Given the description of an element on the screen output the (x, y) to click on. 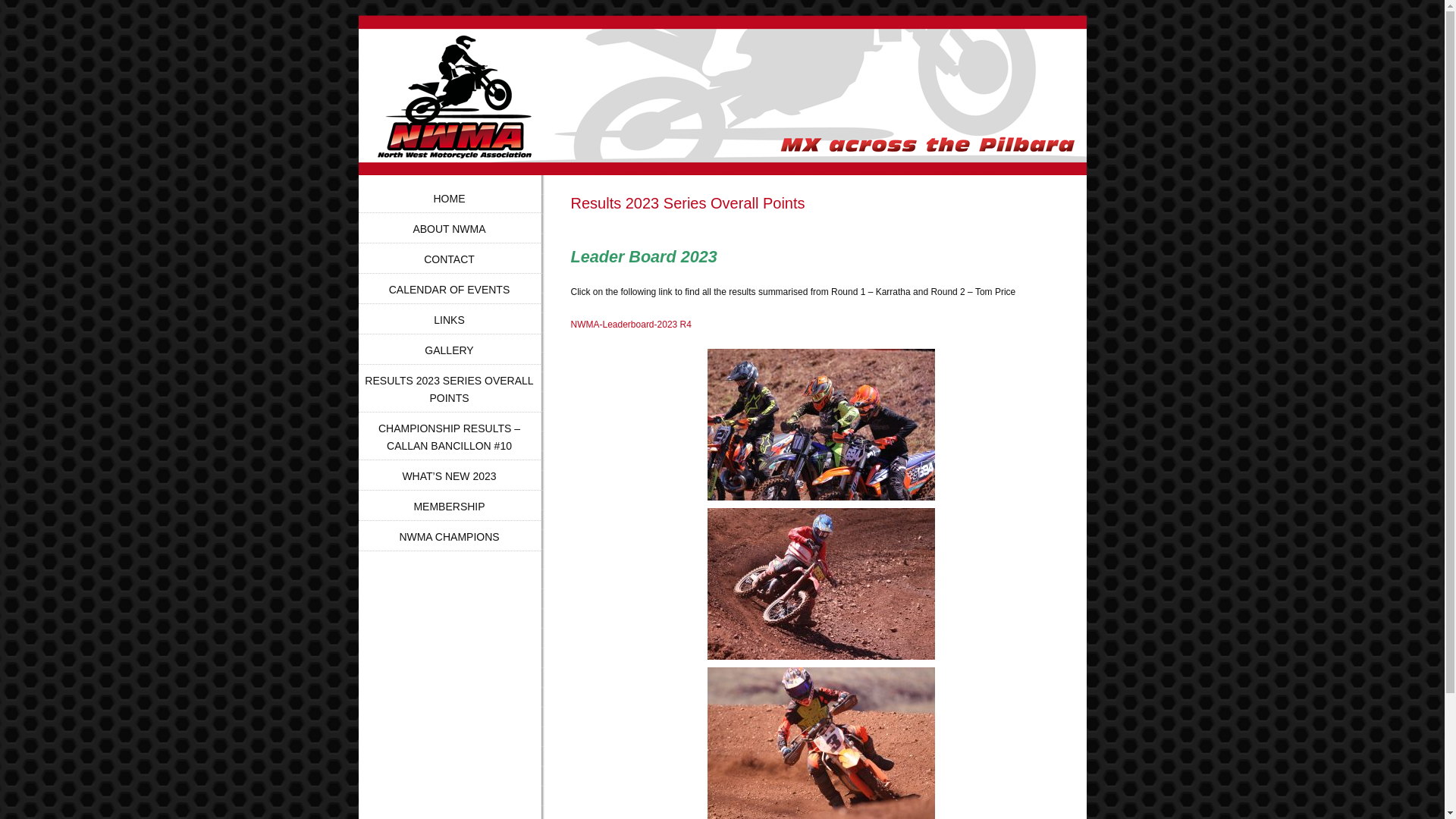
MEMBERSHIP Element type: text (448, 506)
GALLERY Element type: text (448, 350)
NWMA CHAMPIONS Element type: text (448, 536)
NWMA-Leaderboard-2023 R4 Element type: text (630, 324)
North West Motorcycle Association Element type: text (492, 104)
ABOUT NWMA Element type: text (448, 228)
CALENDAR OF EVENTS Element type: text (449, 289)
LINKS Element type: text (448, 319)
RESULTS 2023 SERIES OVERALL POINTS Element type: text (448, 389)
CONTACT Element type: text (448, 259)
HOME Element type: text (449, 198)
